Given the description of an element on the screen output the (x, y) to click on. 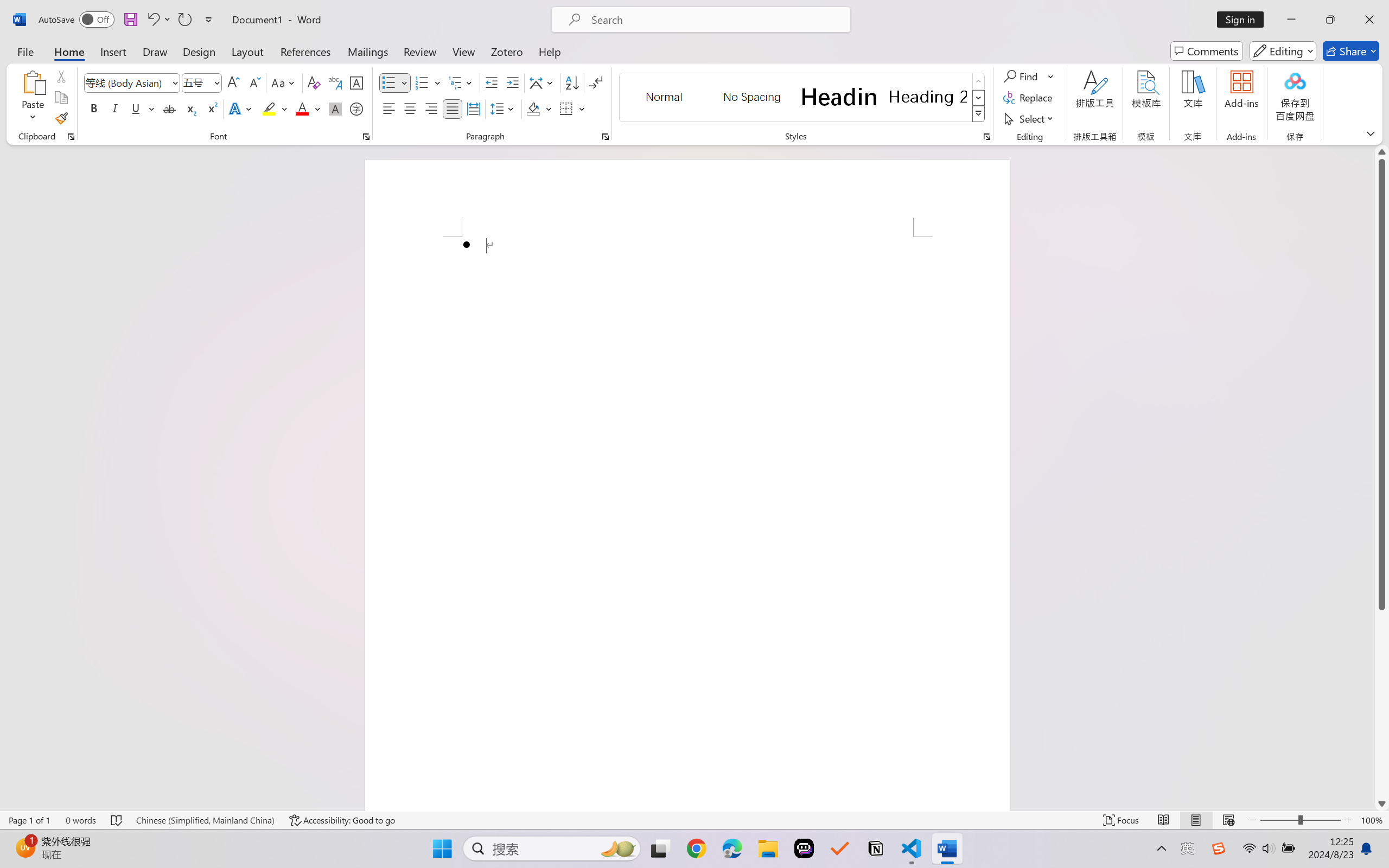
Zoom 100% (1372, 819)
